Given the description of an element on the screen output the (x, y) to click on. 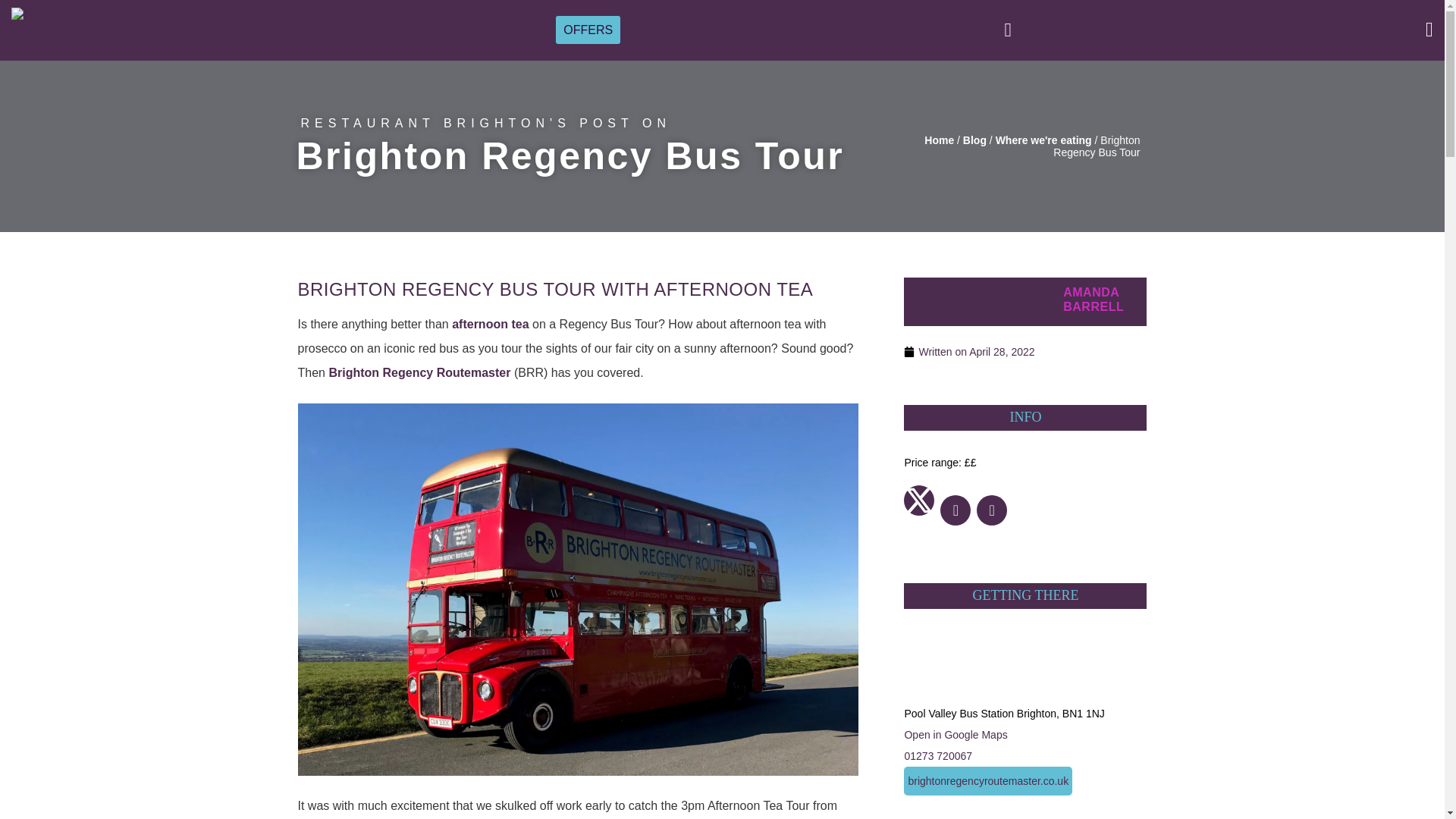
OFFERS (588, 29)
